Given the description of an element on the screen output the (x, y) to click on. 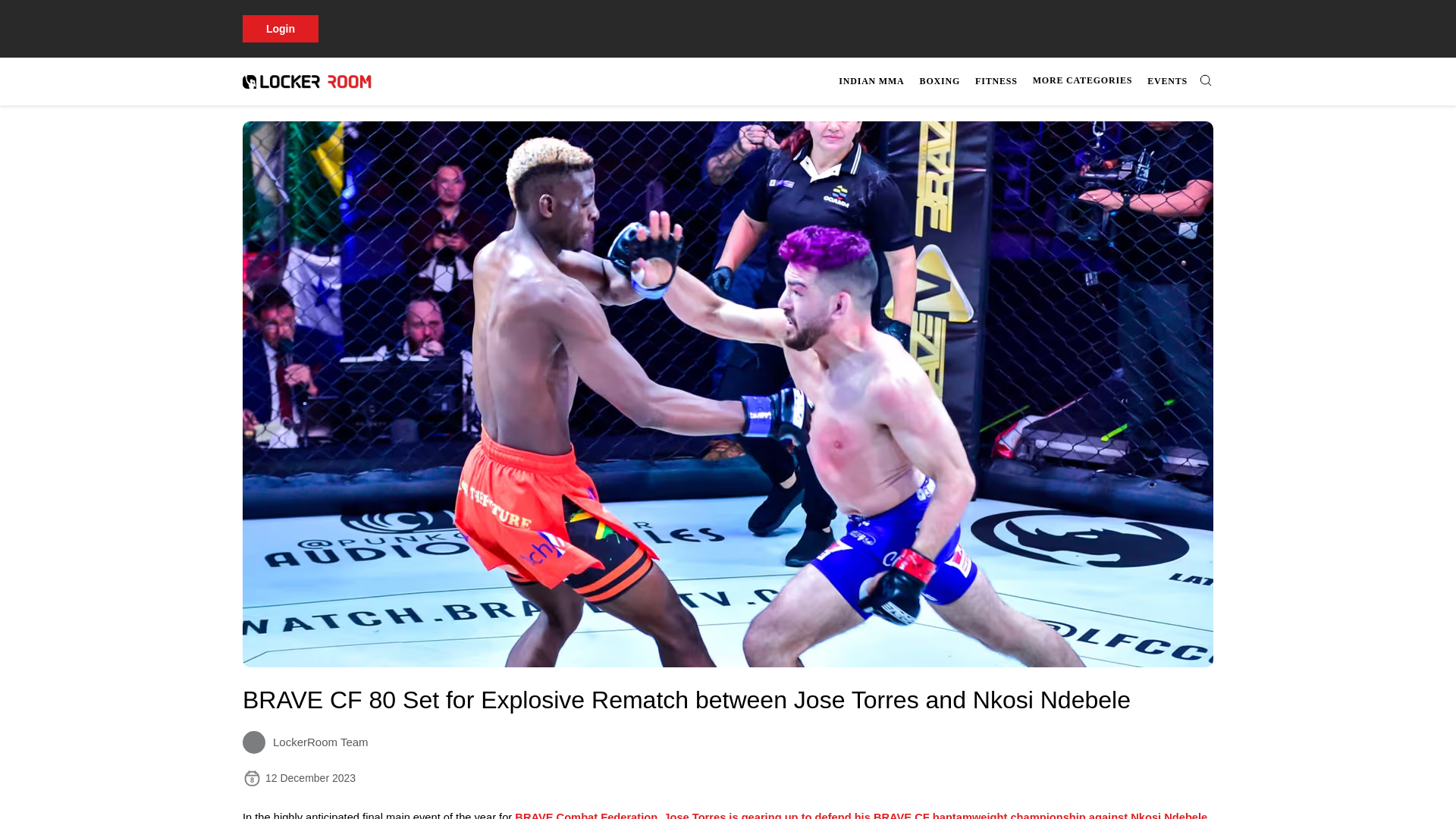
EVENTS (1167, 81)
MORE CATEGORIES (1082, 80)
BOXING (1023, 81)
INDIAN MMA (939, 81)
FITNESS (871, 81)
BRAVE Combat Federation (996, 81)
